Given the description of an element on the screen output the (x, y) to click on. 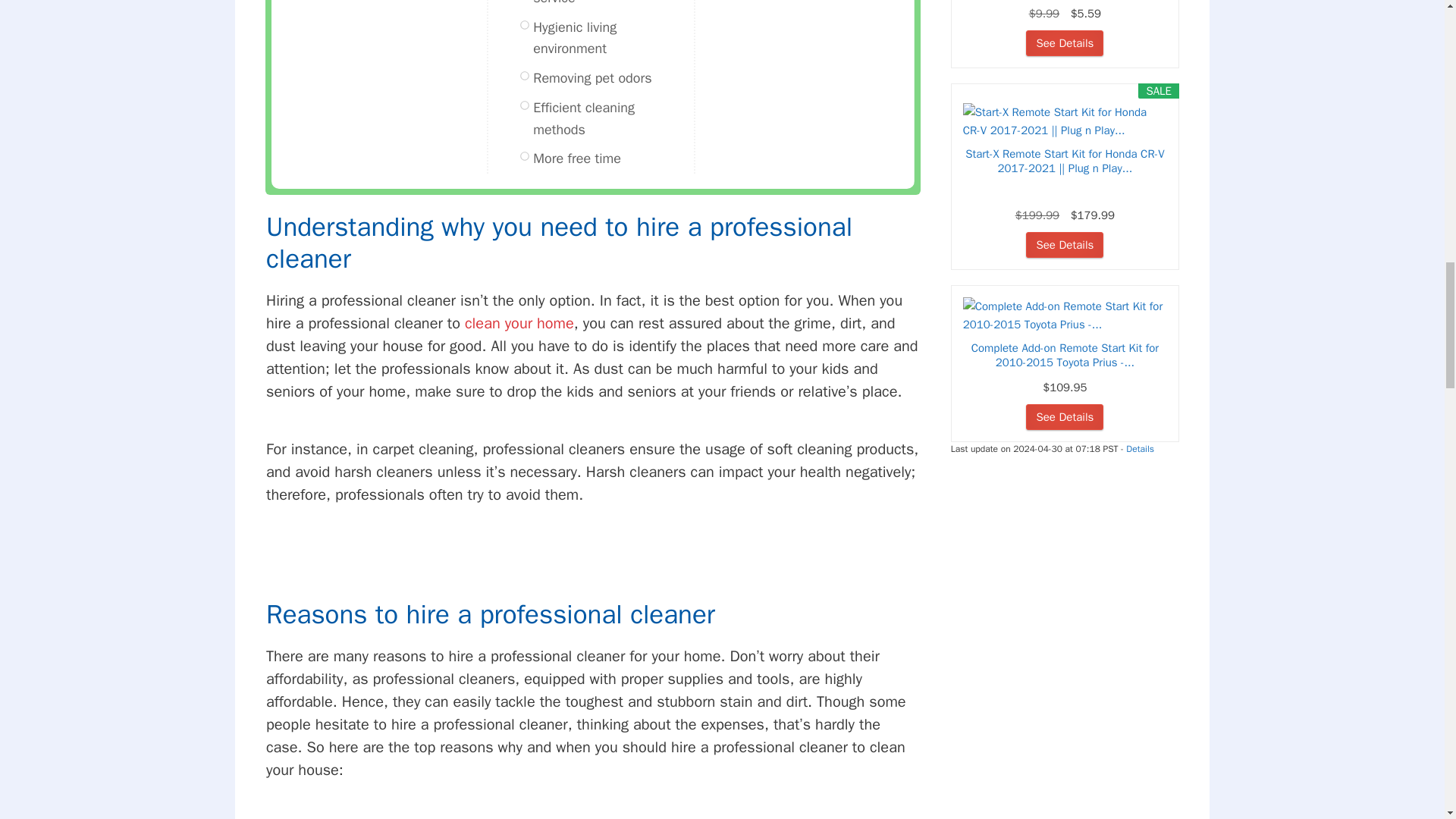
More free time (576, 158)
Efficient cleaning methods (609, 118)
Removing pet odors (591, 78)
Hygienic living environment (609, 38)
Customize the cleaning service (609, 4)
